Given the description of an element on the screen output the (x, y) to click on. 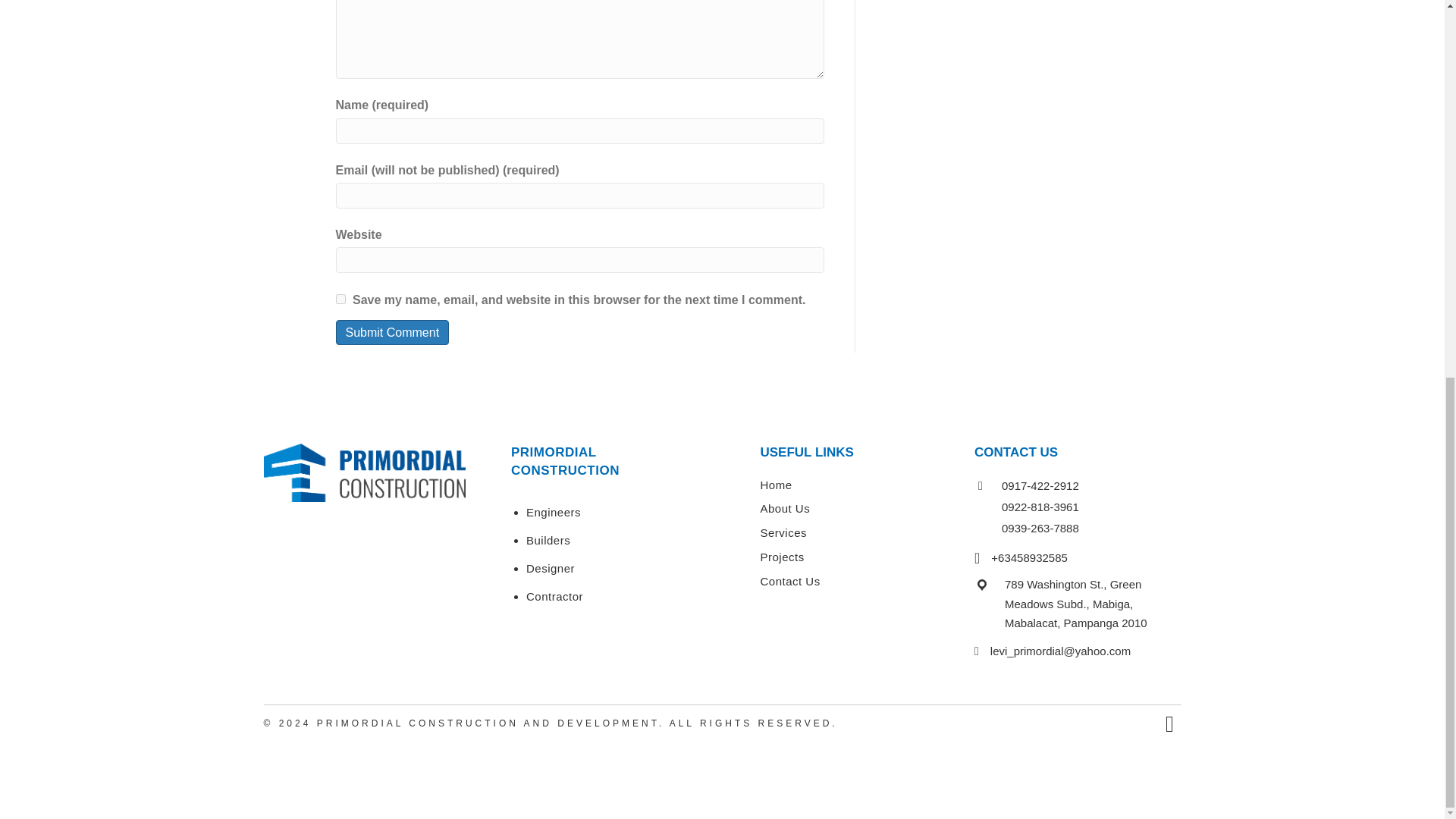
Projects (781, 556)
Submit Comment (391, 332)
Home (776, 484)
Services (783, 532)
Submit Comment (391, 332)
Contact Us (789, 581)
yes (339, 298)
primordial-logo (364, 472)
About Us (784, 508)
